Given the description of an element on the screen output the (x, y) to click on. 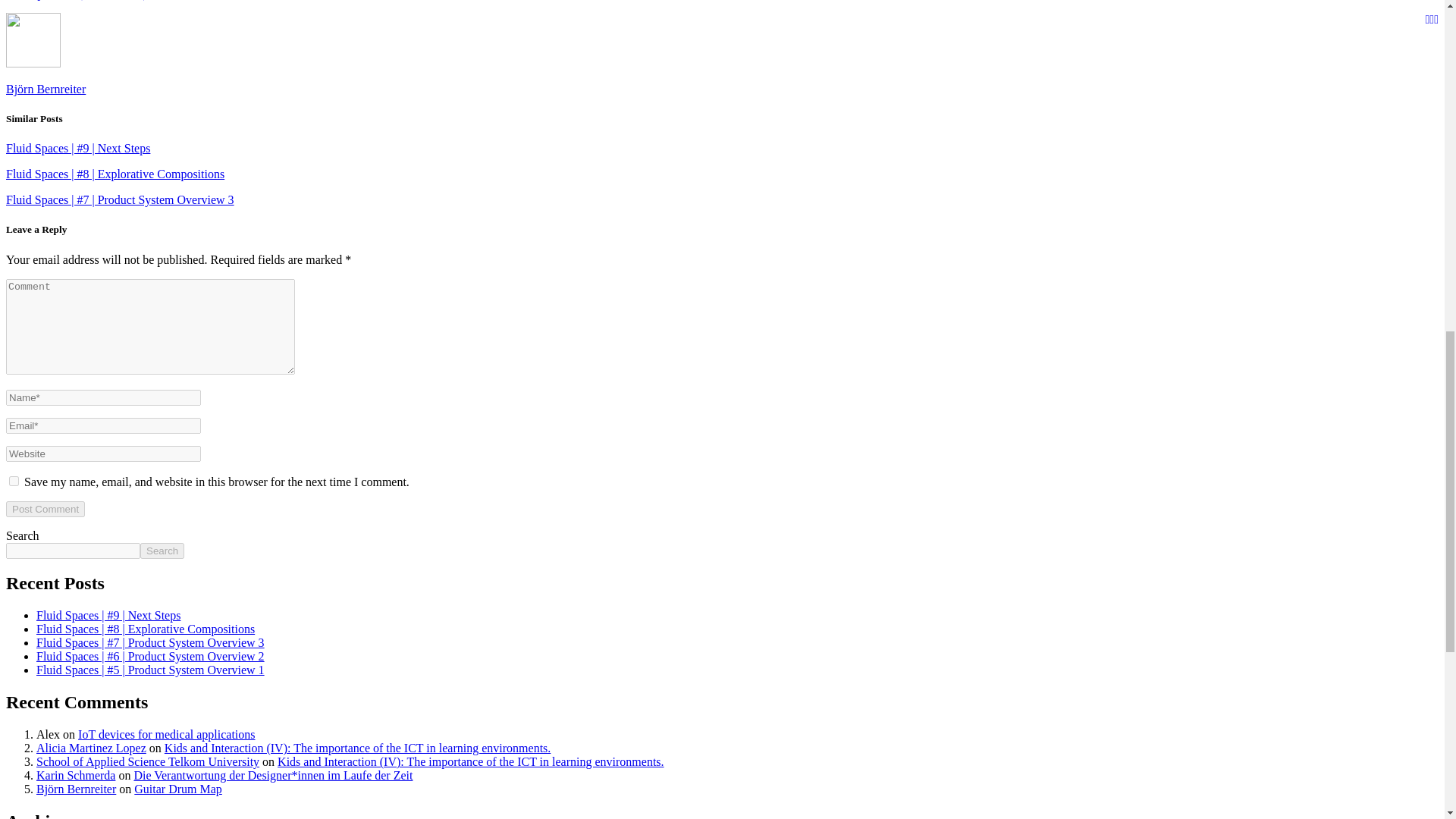
IoT devices for medical applications (166, 734)
yes (13, 480)
Search (161, 550)
Karin Schmerda (75, 775)
Post Comment (44, 508)
Guitar Drum Map (177, 788)
Alicia Martinez Lopez (91, 748)
School of Applied Science Telkom University (147, 761)
Post Comment (44, 508)
